Given the description of an element on the screen output the (x, y) to click on. 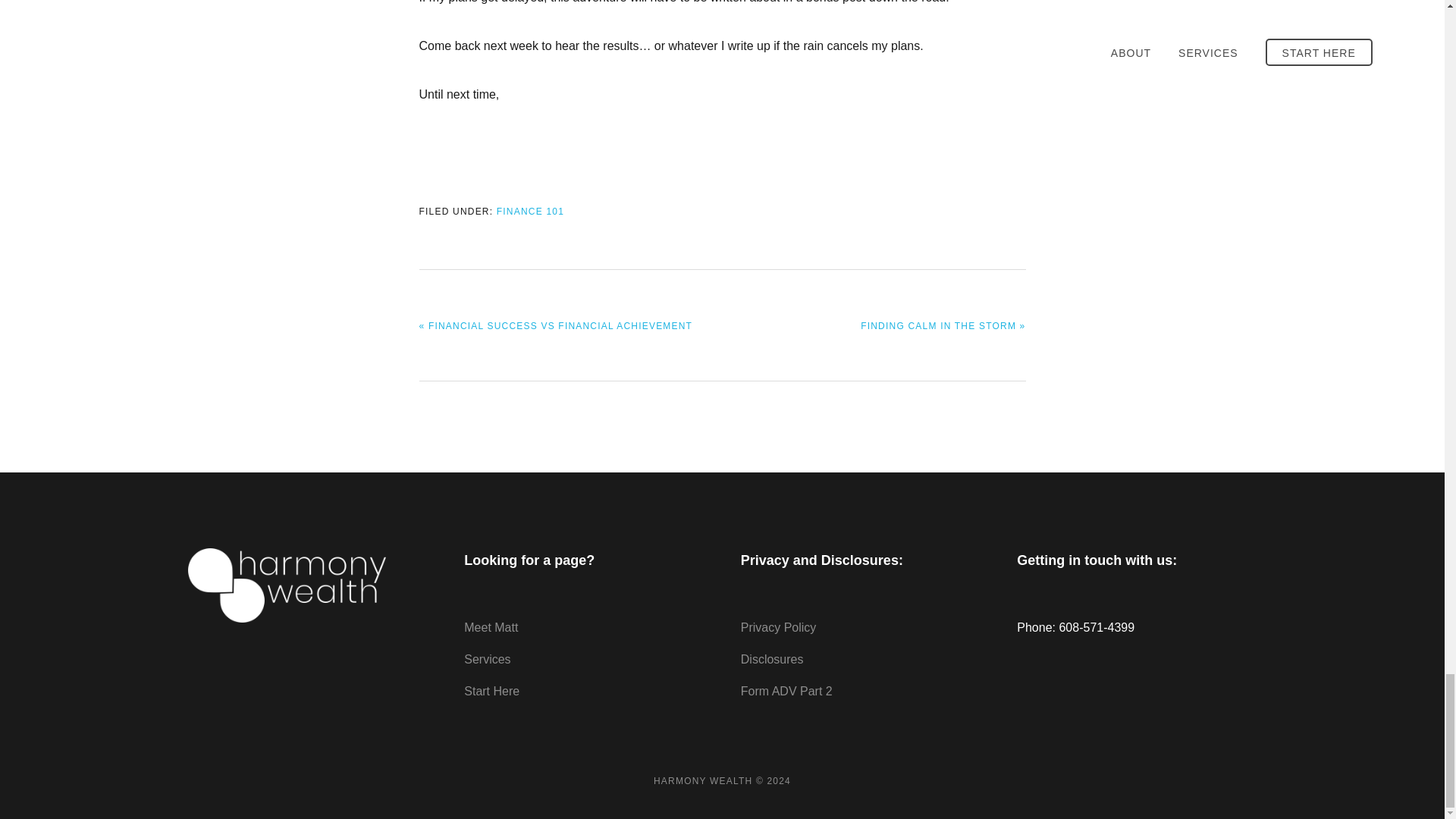
Privacy Policy (778, 626)
FINANCE 101 (530, 211)
Disclosures (772, 658)
Services (487, 658)
Start Here (491, 690)
Form ADV Part 2 (786, 690)
Meet Matt (491, 626)
